Given the description of an element on the screen output the (x, y) to click on. 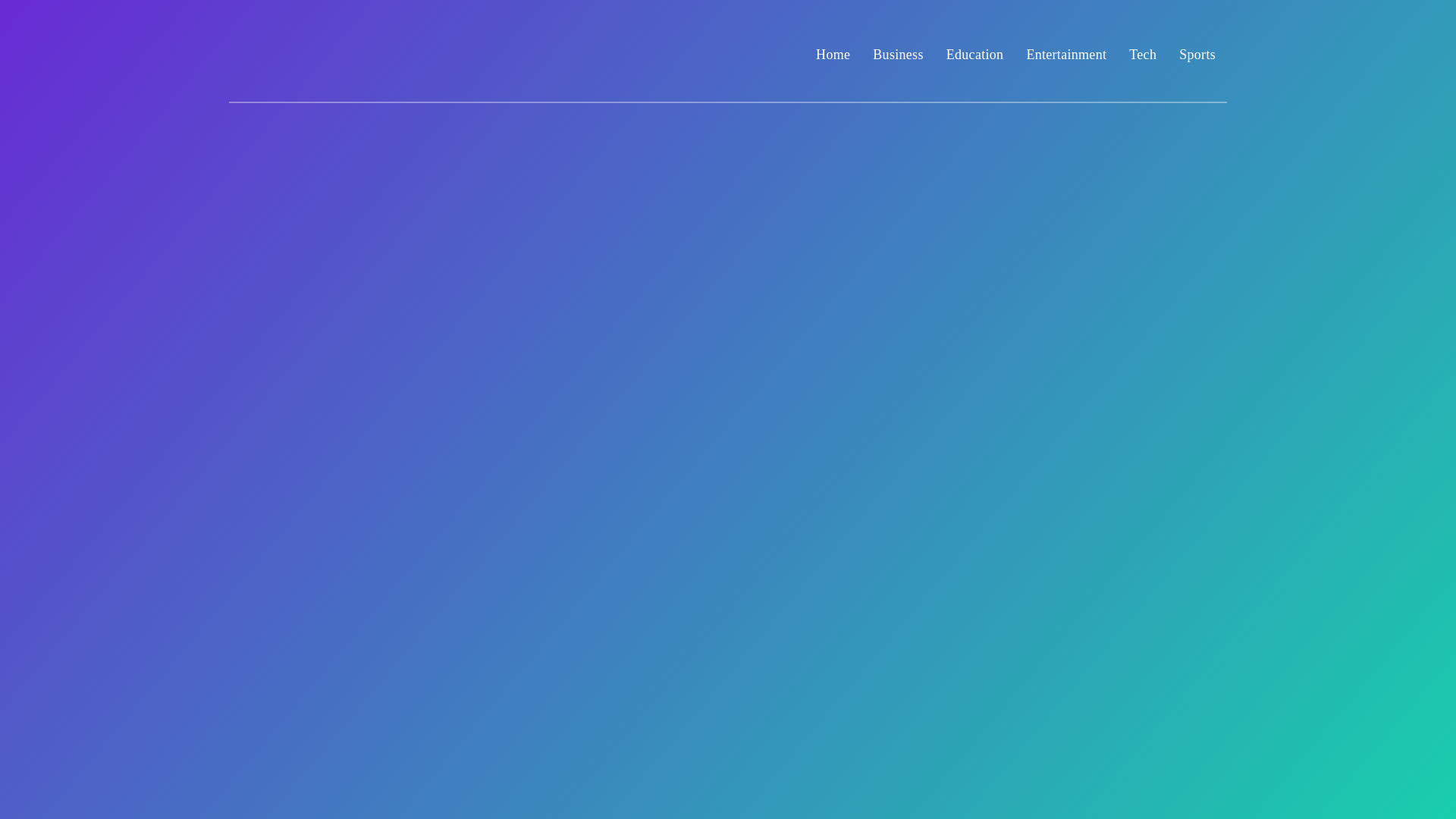
Sparking Trend (320, 71)
Sports (1197, 54)
Tech (1142, 54)
Entertainment (1066, 54)
Business (897, 54)
Home (832, 54)
Education (975, 54)
